Given the description of an element on the screen output the (x, y) to click on. 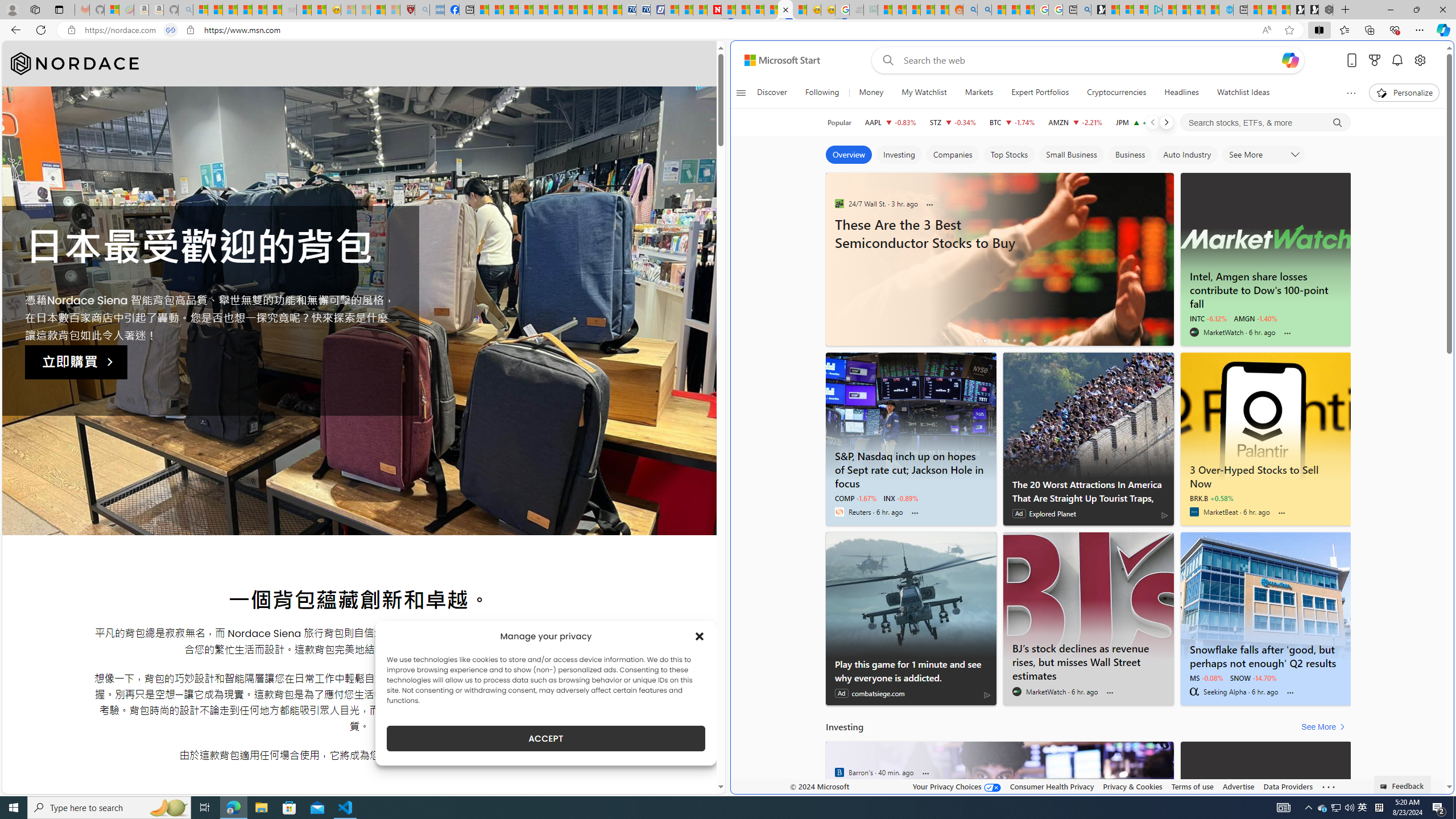
See More (1325, 726)
JPM JPMORGAN CHASE & CO. increase 216.71 +2.11 +0.98% (1140, 122)
Tabs in split screen (170, 29)
